Given the description of an element on the screen output the (x, y) to click on. 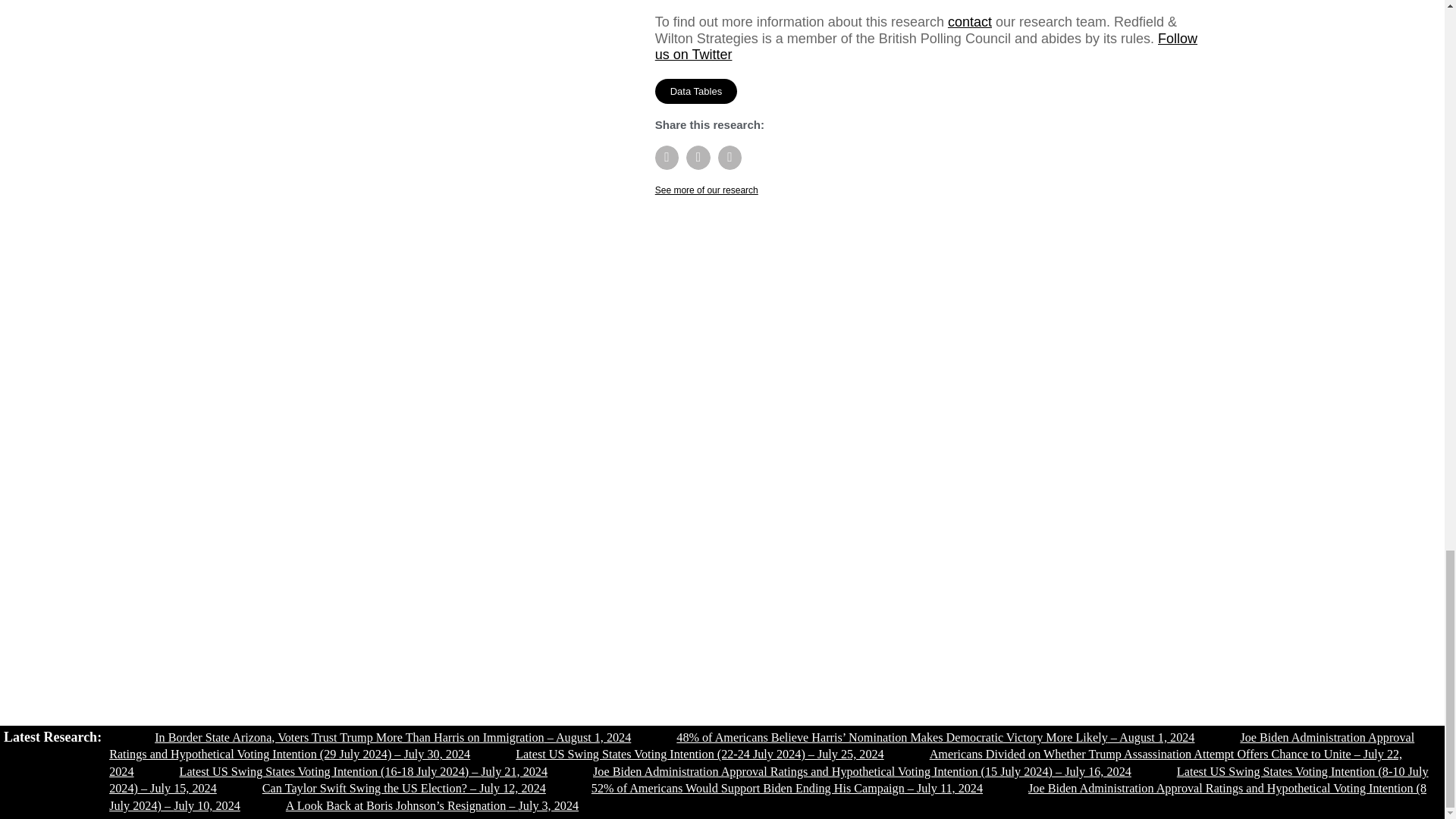
Follow us on Twitter (925, 47)
contact (969, 21)
Data Tables (695, 91)
See more of our research (706, 190)
